Given the description of an element on the screen output the (x, y) to click on. 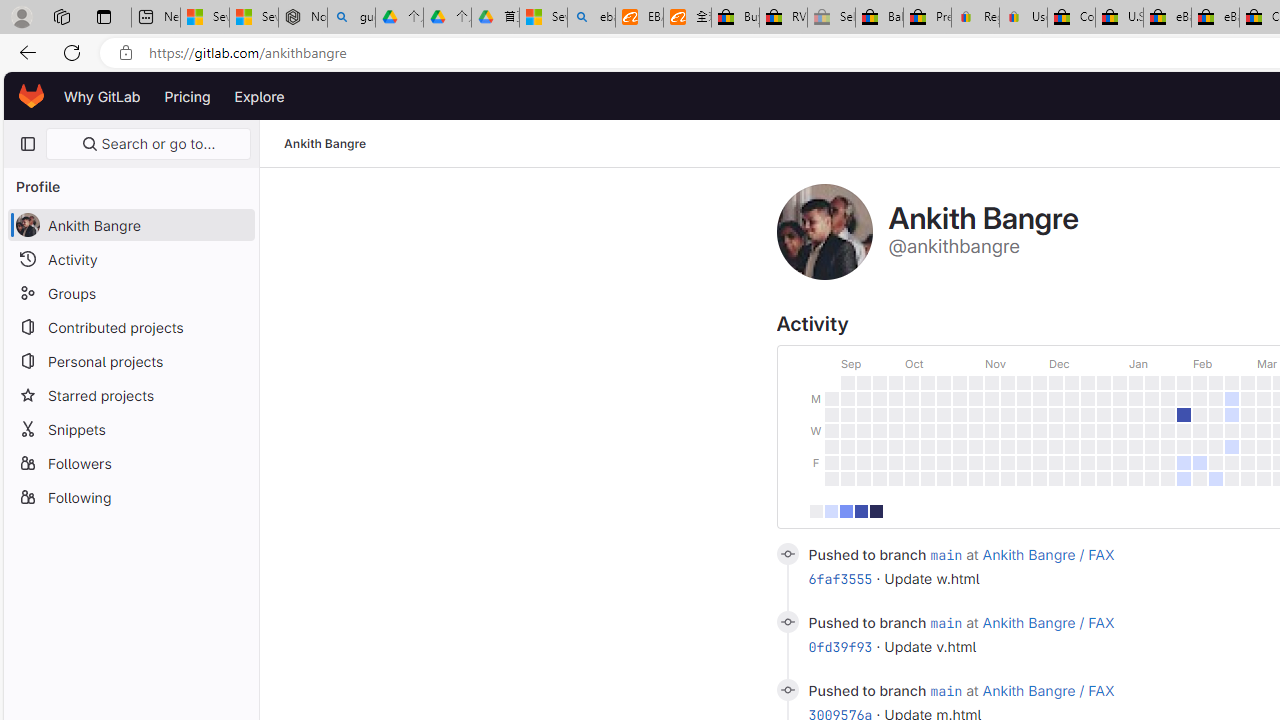
avatar (27, 224)
